Given the description of an element on the screen output the (x, y) to click on. 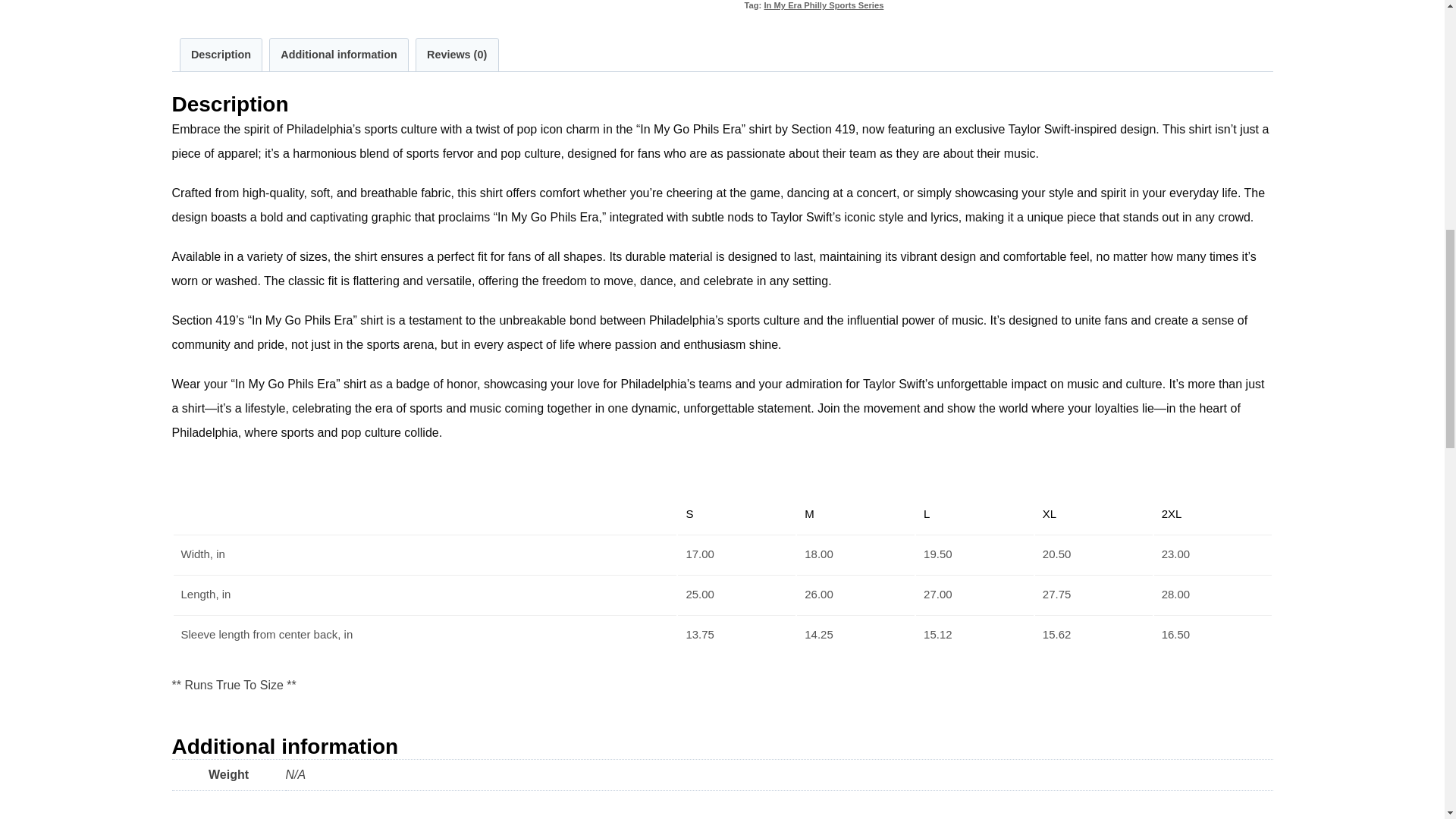
Description (221, 54)
In My Era Philly Sports Series (822, 4)
Additional information (338, 54)
